Given the description of an element on the screen output the (x, y) to click on. 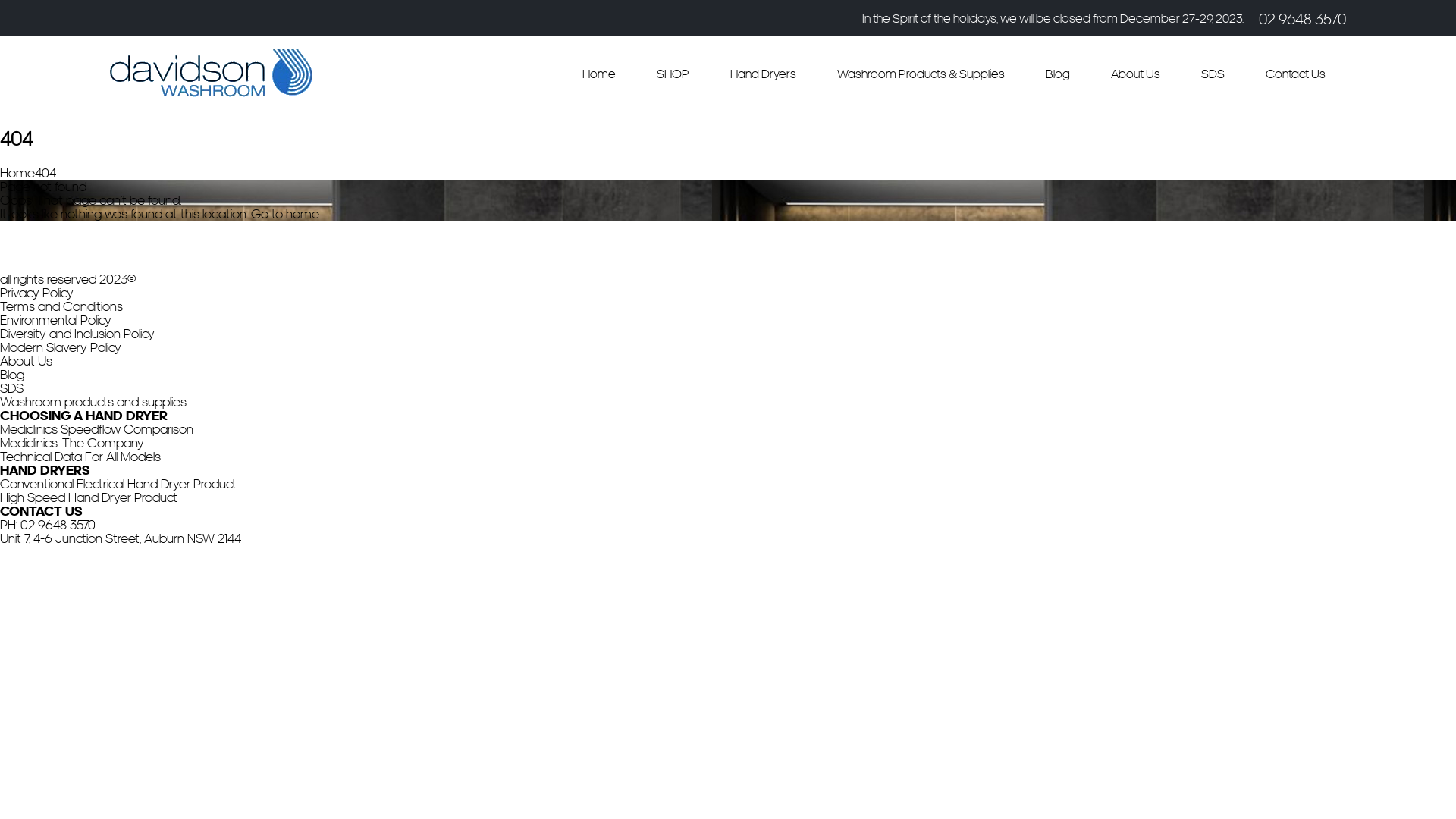
Mediclinics Speedflow Comparison Element type: text (96, 428)
02 9648 3570 Element type: text (57, 524)
Modern Slavery Policy Element type: text (60, 346)
Terms and Conditions Element type: text (61, 305)
Environmental Policy Element type: text (55, 319)
Blog Element type: text (12, 374)
Washroom Products & Supplies Element type: text (920, 73)
Mediclinics. The Company Element type: text (72, 442)
Home Element type: text (598, 73)
SHOP Element type: text (672, 73)
Washroom products and supplies Element type: text (93, 401)
SDS Element type: text (1212, 73)
Blog Element type: text (1057, 73)
About Us Element type: text (26, 360)
Diversity and Inclusion Policy Element type: text (77, 333)
Go to home Element type: text (285, 213)
HAND DRYERS Element type: text (45, 469)
Contact Us Element type: text (1295, 73)
Technical Data For All Models Element type: text (80, 456)
About Us Element type: text (1135, 73)
CHOOSING A HAND DRYER Element type: text (83, 415)
02 9648 3570 Element type: text (1302, 18)
Privacy Policy Element type: text (36, 292)
CONTACT US Element type: text (41, 510)
Conventional Electrical Hand Dryer Product Element type: text (118, 483)
SDS Element type: text (11, 387)
Home Element type: text (17, 172)
Hand Dryers Element type: text (762, 73)
High Speed Hand Dryer Product Element type: text (88, 497)
